Given the description of an element on the screen output the (x, y) to click on. 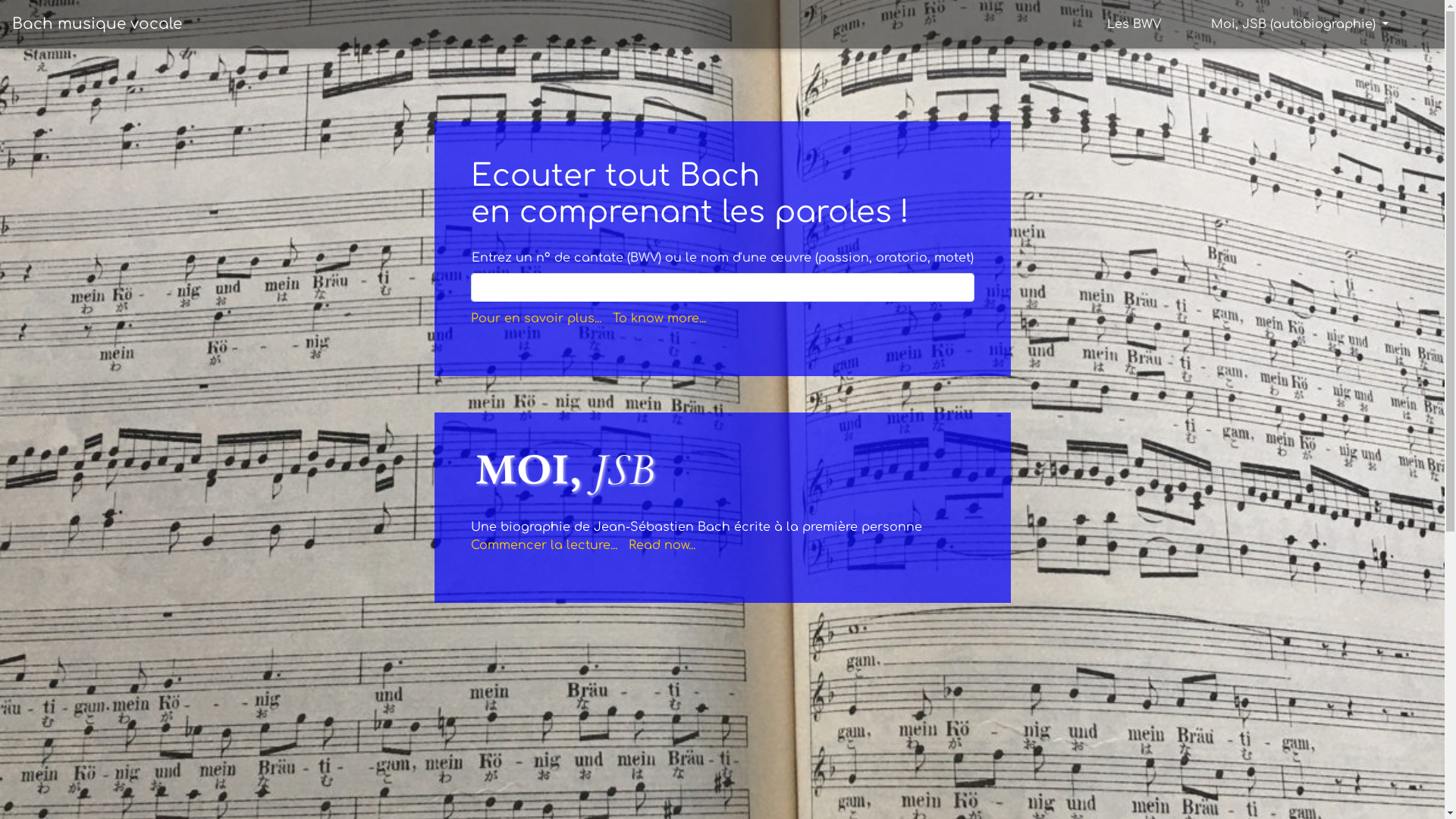
Moi, JSB (autobiographie) Element type: text (1299, 24)
Les BWV Element type: text (1134, 24)
Pour en savoir plus...   To know more... Element type: text (587, 318)
Bach musique vocale Element type: text (97, 24)
Commencer la lecture...   Read now... Element type: text (582, 545)
